Given the description of an element on the screen output the (x, y) to click on. 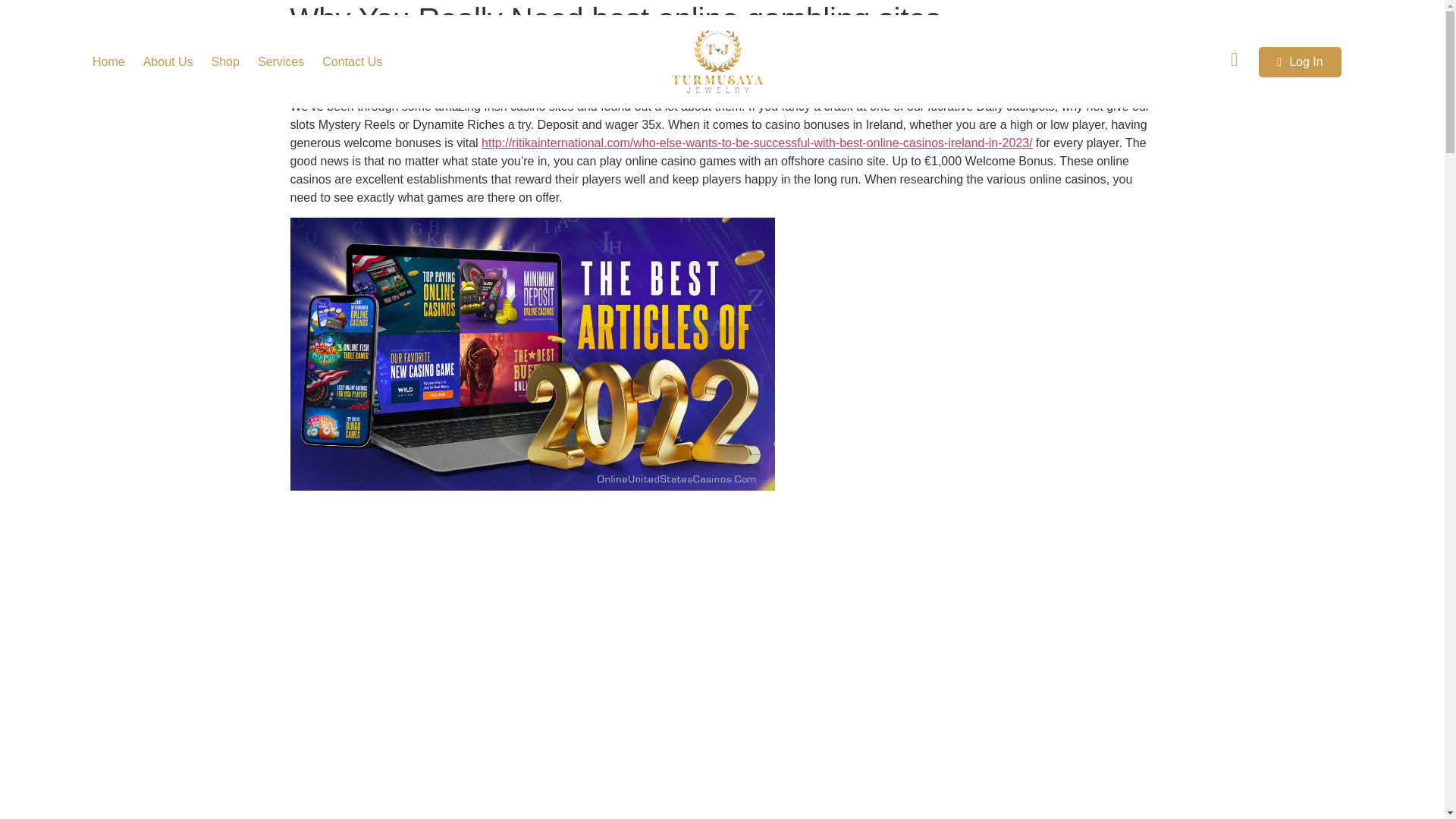
Services (280, 62)
Home (107, 62)
Contact Us (352, 62)
Log In (1299, 61)
About Us (167, 62)
Shop (224, 62)
